Given the description of an element on the screen output the (x, y) to click on. 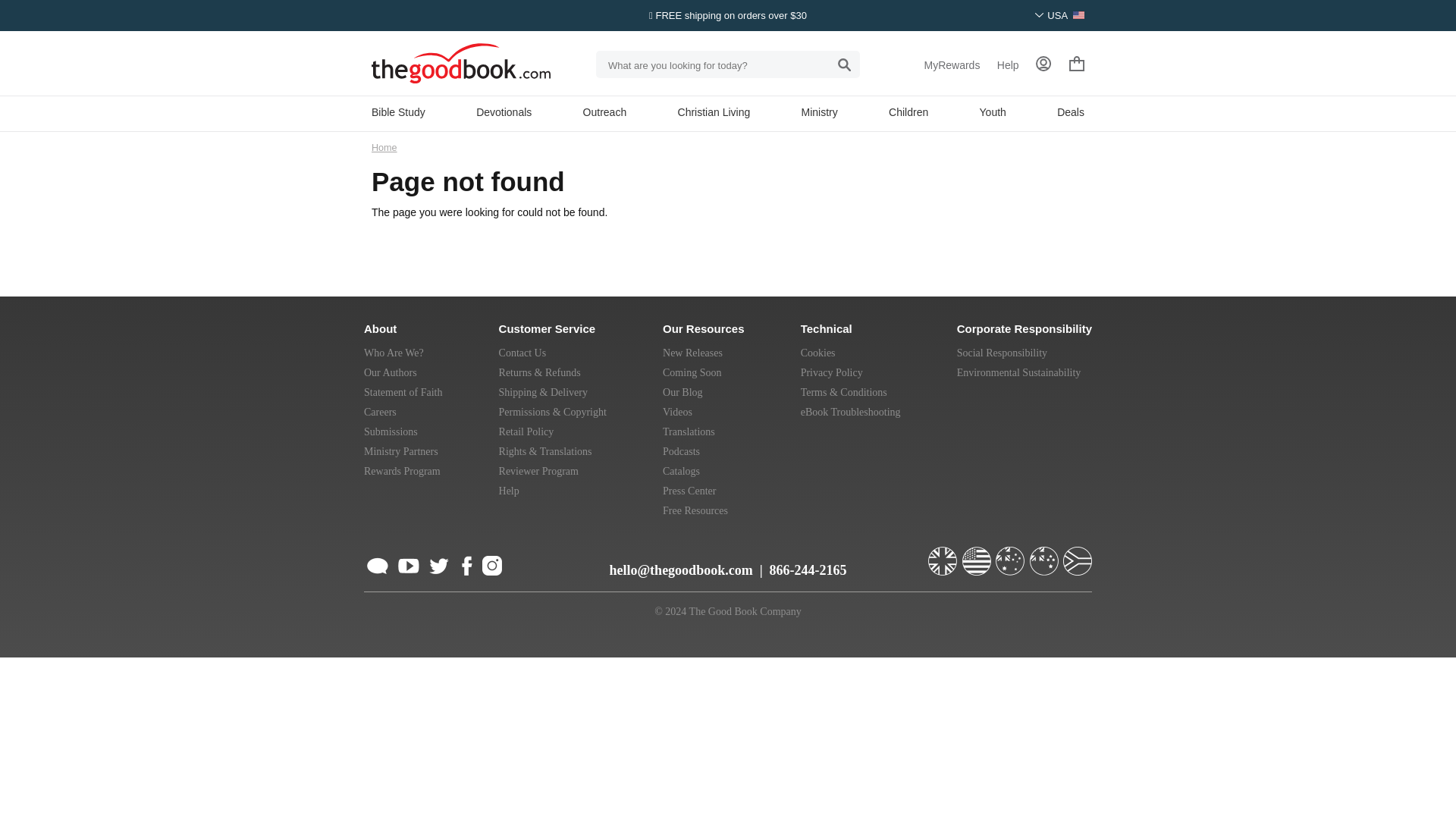
Bible Study (398, 111)
MyRewards (951, 65)
Go to US Website (976, 554)
Go to South Africa Website (1077, 554)
Subscribe to feed (377, 563)
Go to Home Page (384, 147)
Sign in (1043, 63)
Sign in (1043, 65)
Go to UK Website (943, 554)
Help (1008, 65)
Go to New Zealand Website (1045, 554)
Go to Australia Website (1011, 554)
Devotionals (503, 111)
USA (1059, 14)
